Given the description of an element on the screen output the (x, y) to click on. 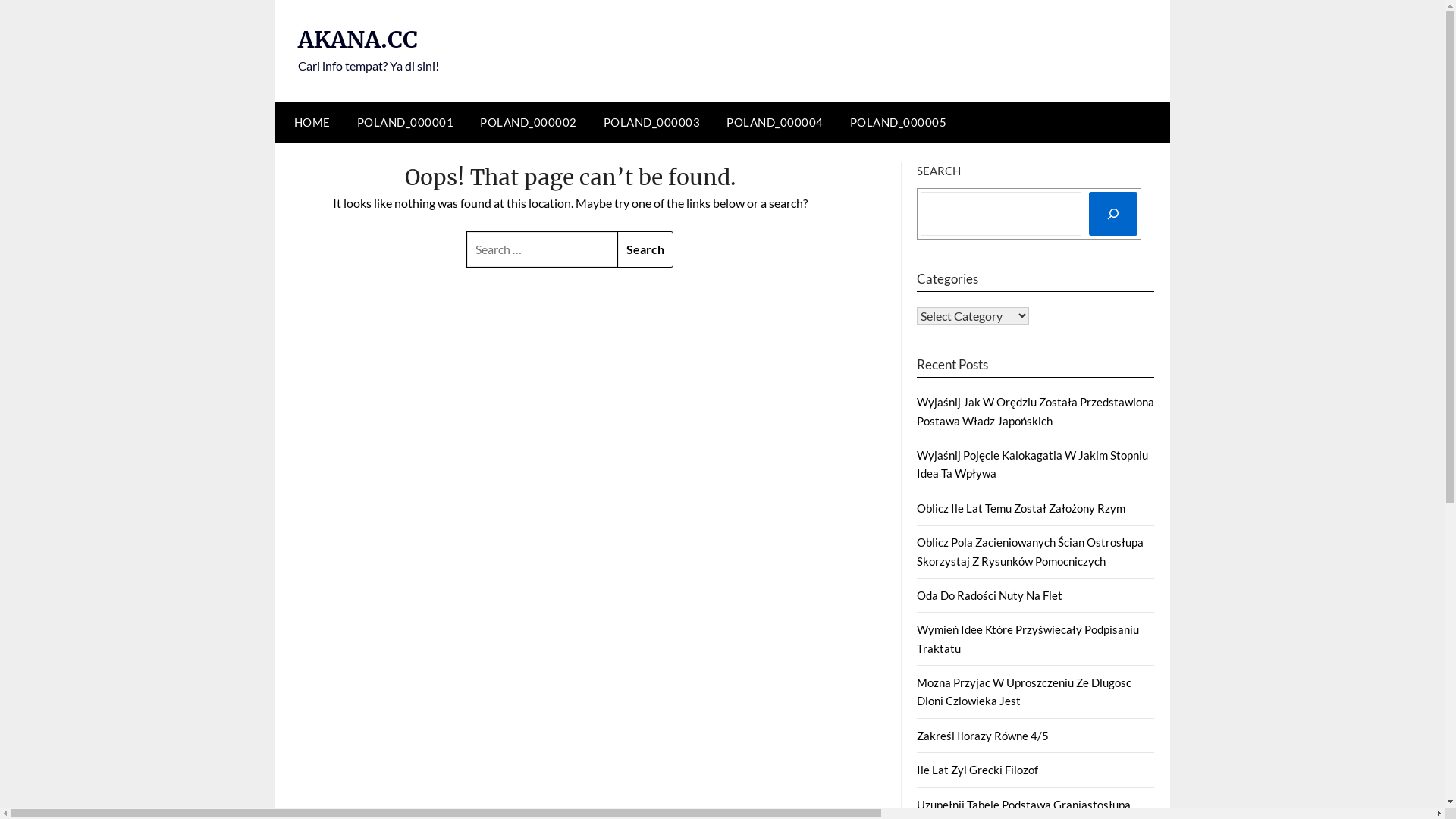
Search Element type: text (645, 249)
Ile Lat Zyl Grecki Filozof Element type: text (977, 769)
POLAND_000003 Element type: text (651, 121)
AKANA.CC Element type: text (357, 39)
Mozna Przyjac W Uproszczeniu Ze Dlugosc Dloni Czlowieka Jest Element type: text (1023, 691)
POLAND_000004 Element type: text (774, 121)
POLAND_000002 Element type: text (528, 121)
HOME Element type: text (308, 121)
POLAND_000001 Element type: text (404, 121)
POLAND_000005 Element type: text (897, 121)
